Given the description of an element on the screen output the (x, y) to click on. 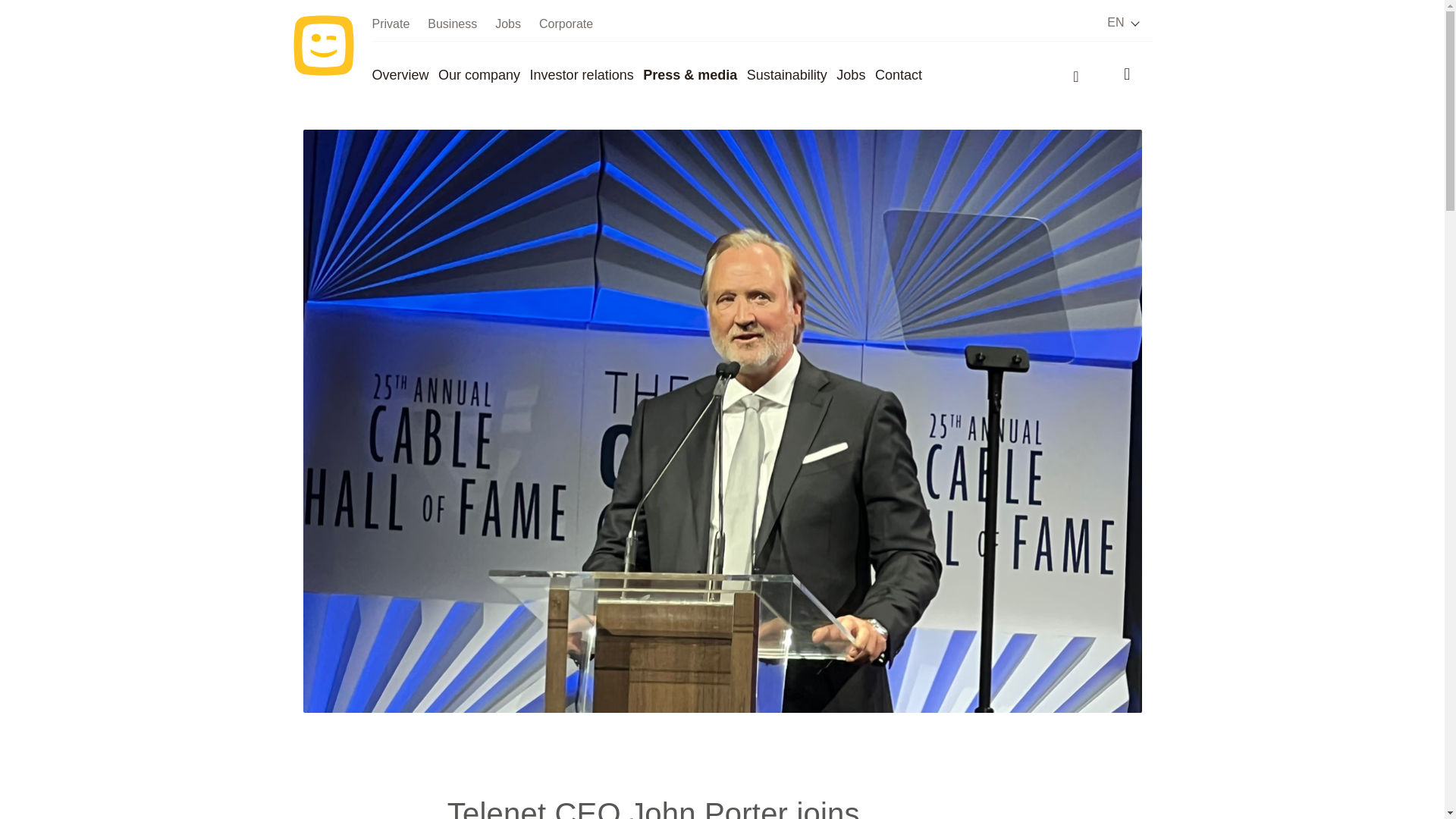
Investor relations (581, 74)
Overview (399, 74)
Contact (898, 74)
Private (390, 23)
Our company (478, 74)
Jobs (849, 74)
Corporate (565, 23)
Sustainability (786, 74)
Business (452, 23)
